Given the description of an element on the screen output the (x, y) to click on. 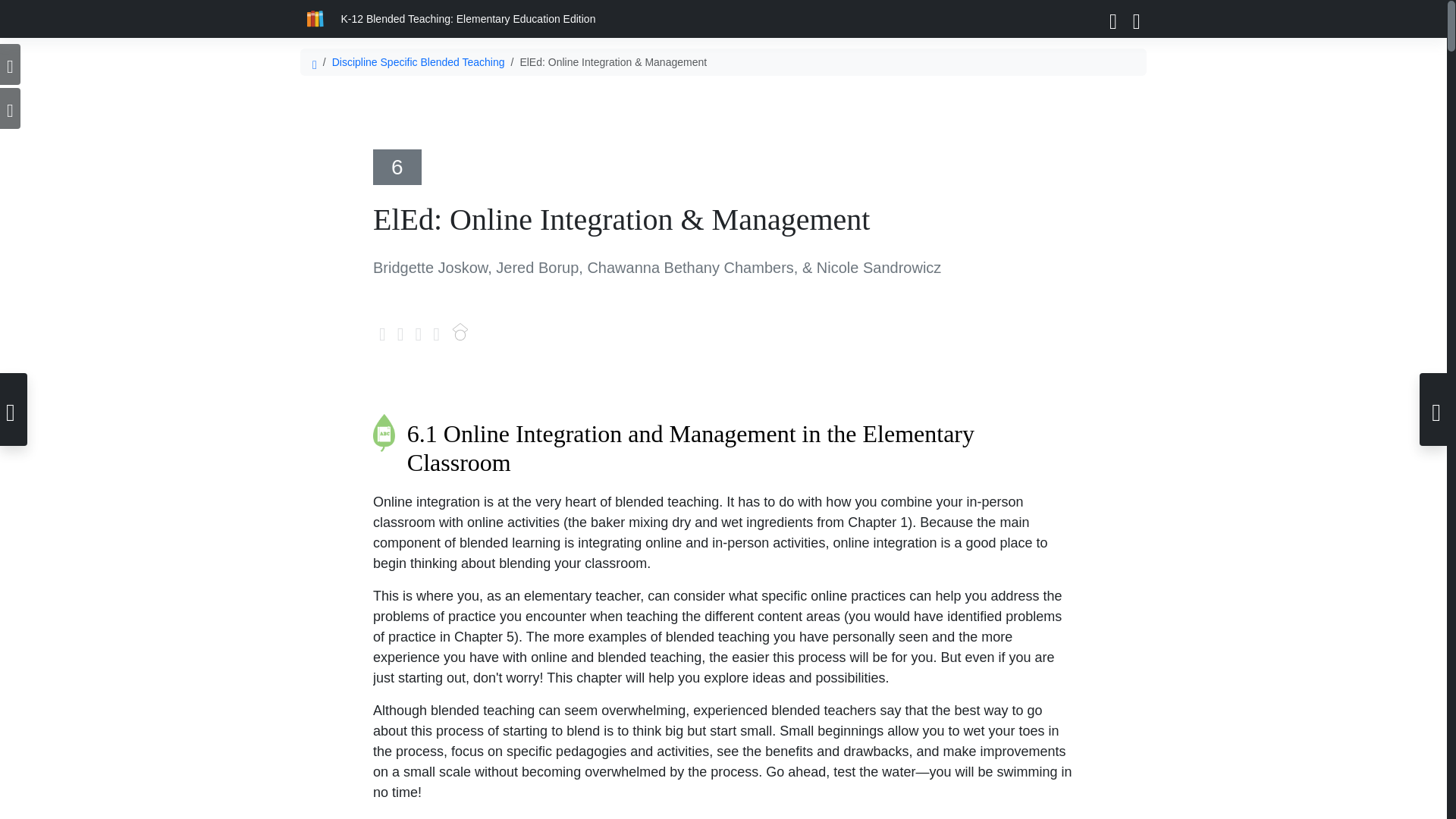
K-12 Blended Teaching: Elementary Education Edition (467, 19)
